Given the description of an element on the screen output the (x, y) to click on. 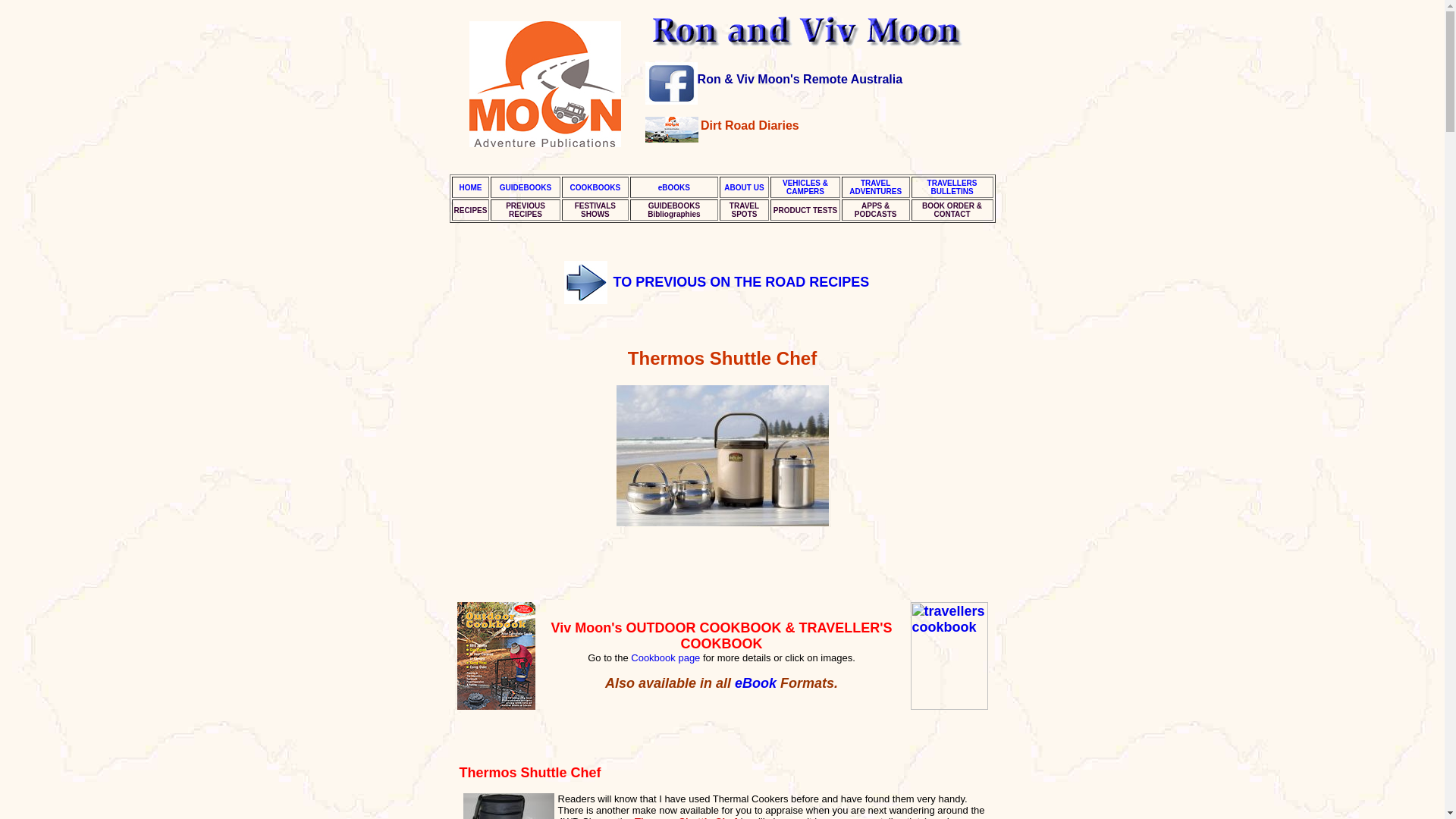
RECIPES (469, 210)
GUIDEBOOKS Bibliographies (673, 209)
ABOUT US (742, 187)
Dirt Road Diaries (749, 124)
FESTIVALS SHOWS (595, 209)
PREVIOUS RECIPES (524, 209)
COOKBOOKS (595, 187)
GUIDEBOOKS (525, 187)
eBOOKS (674, 187)
HOME (874, 187)
TRAVELLERS BULLETINS (469, 187)
Cookbook page (951, 187)
eBook (665, 657)
PRODUCT TESTS (755, 683)
